Given the description of an element on the screen output the (x, y) to click on. 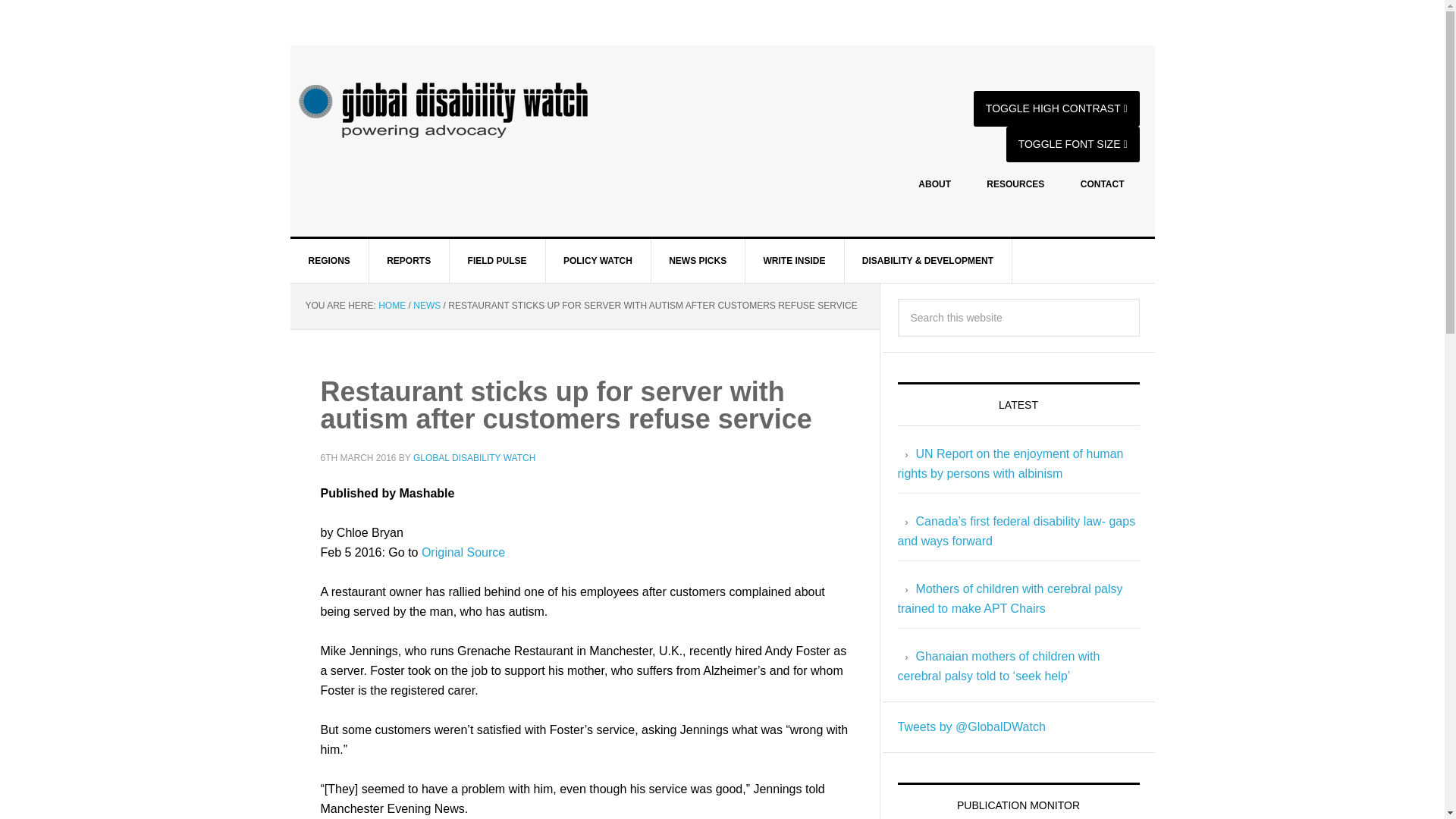
Grenache Restaurant (515, 650)
REGIONS (328, 260)
GLOBAL DISABILITY WATCH (474, 457)
WRITE INSIDE (794, 260)
NEWS PICKS (697, 260)
CONTACT (1102, 184)
Original Source (463, 552)
TOGGLE HIGH CONTRAST (1057, 108)
RESOURCES (1015, 184)
ABOUT (934, 184)
REPORTS (408, 260)
TOGGLE FONT SIZE (1073, 144)
GLOBAL DISABILITY WATCH (492, 109)
